Given the description of an element on the screen output the (x, y) to click on. 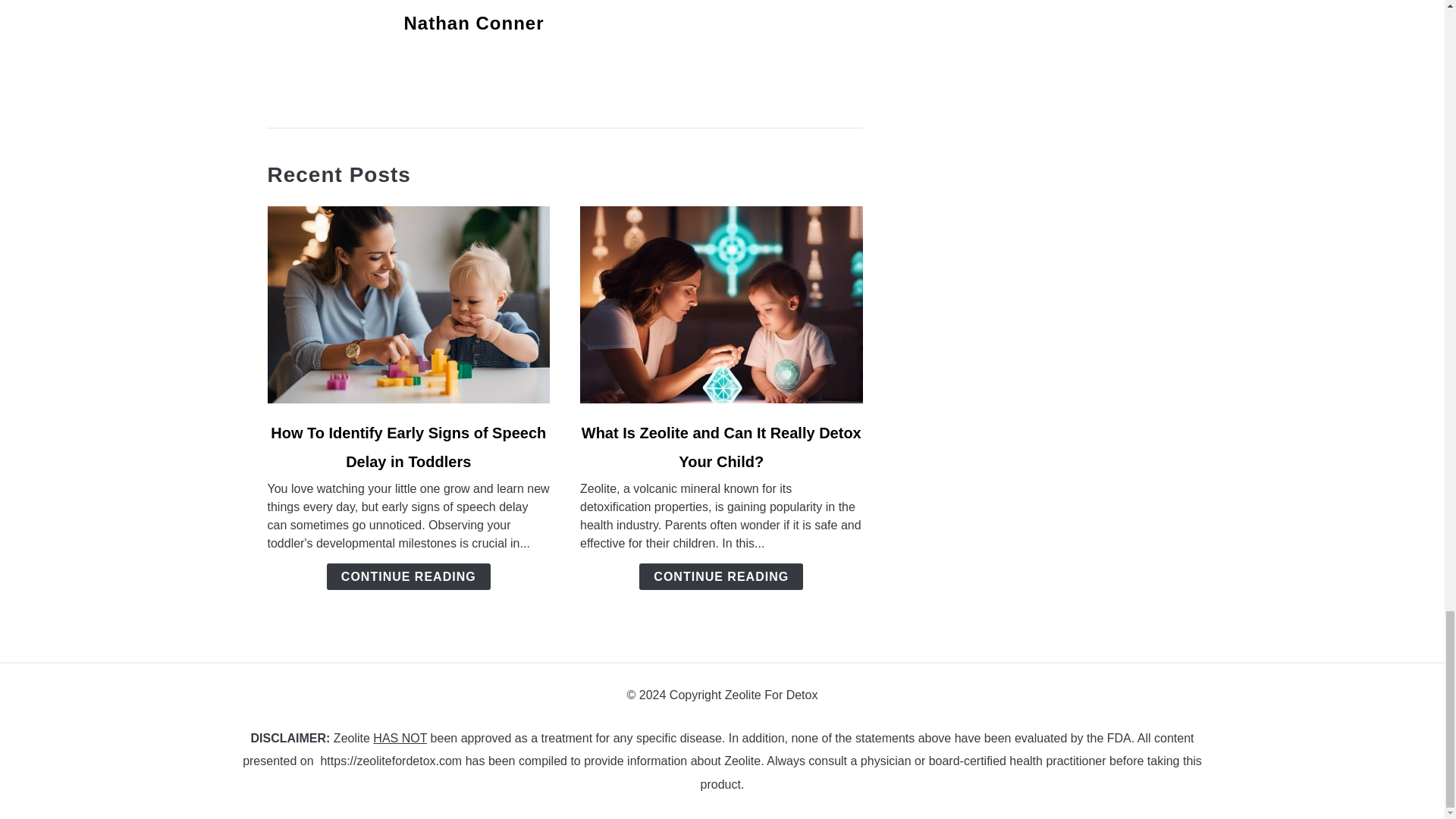
How To Identify Early Signs of Speech Delay in Toddlers (408, 447)
What Is Zeolite and Can It Really Detox Your Child? (720, 447)
link to What Is Zeolite and Can It Really Detox Your Child? (721, 304)
CONTINUE READING (408, 576)
Nathan Conner (473, 23)
CONTINUE READING (721, 576)
